Given the description of an element on the screen output the (x, y) to click on. 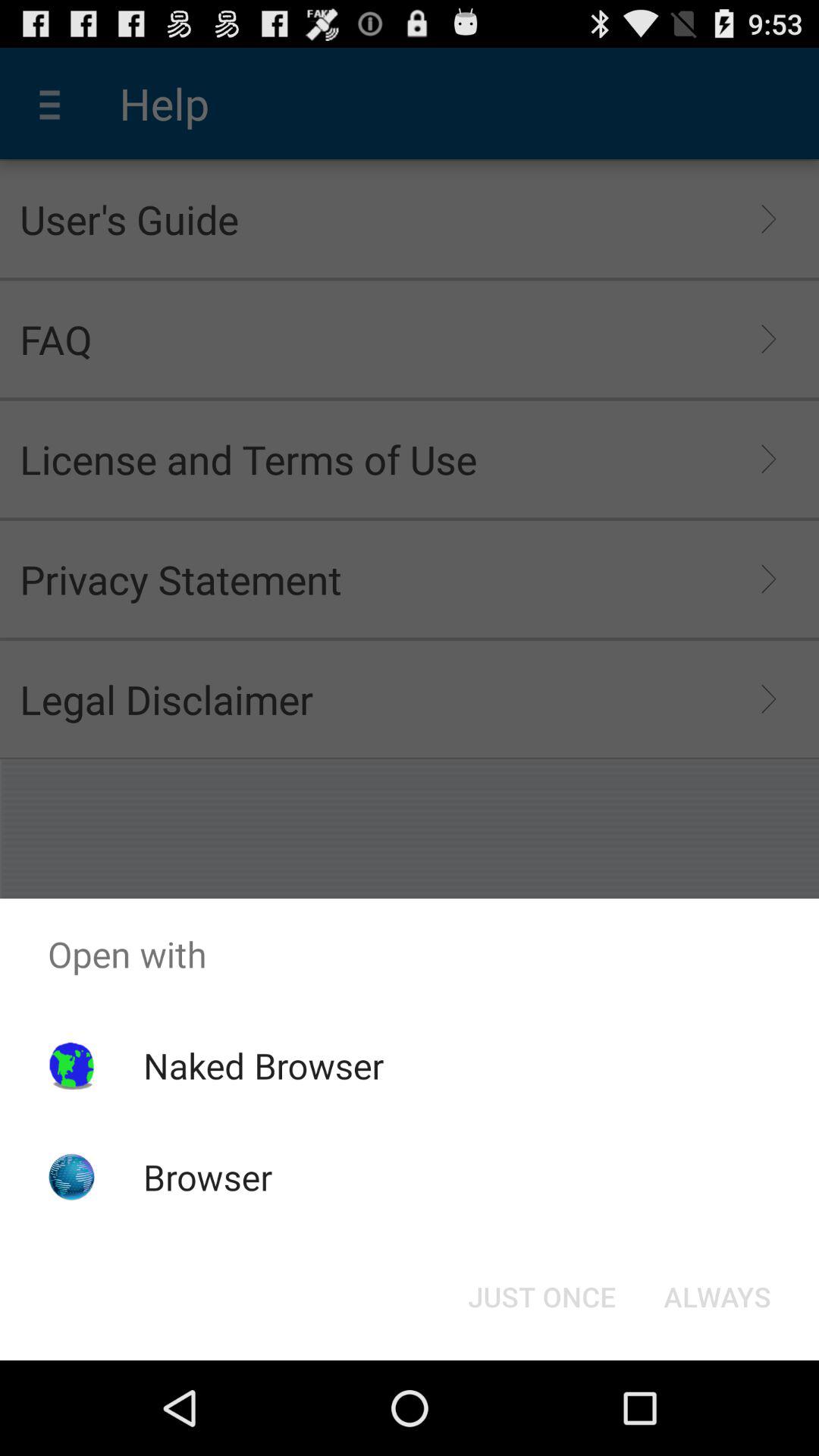
open button to the left of always button (541, 1296)
